Given the description of an element on the screen output the (x, y) to click on. 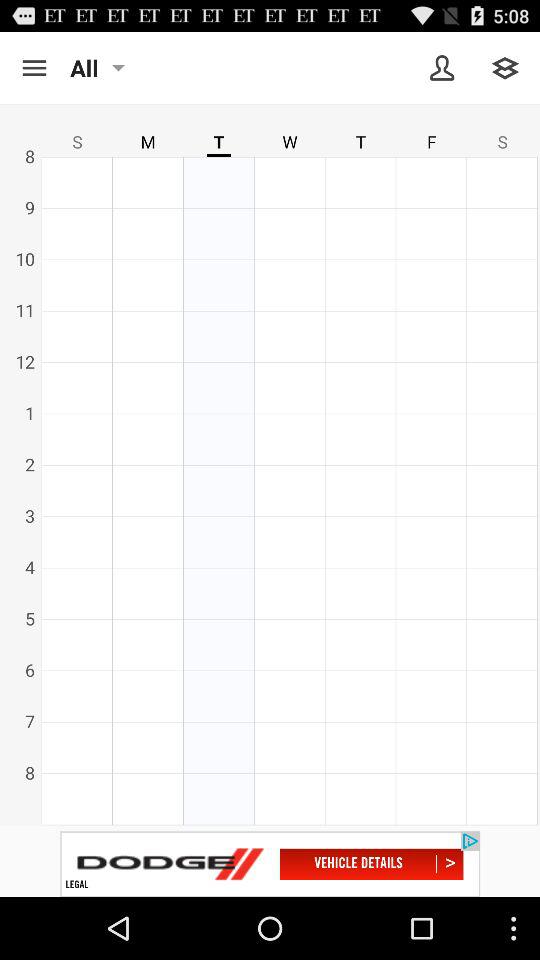
profile (442, 68)
